Given the description of an element on the screen output the (x, y) to click on. 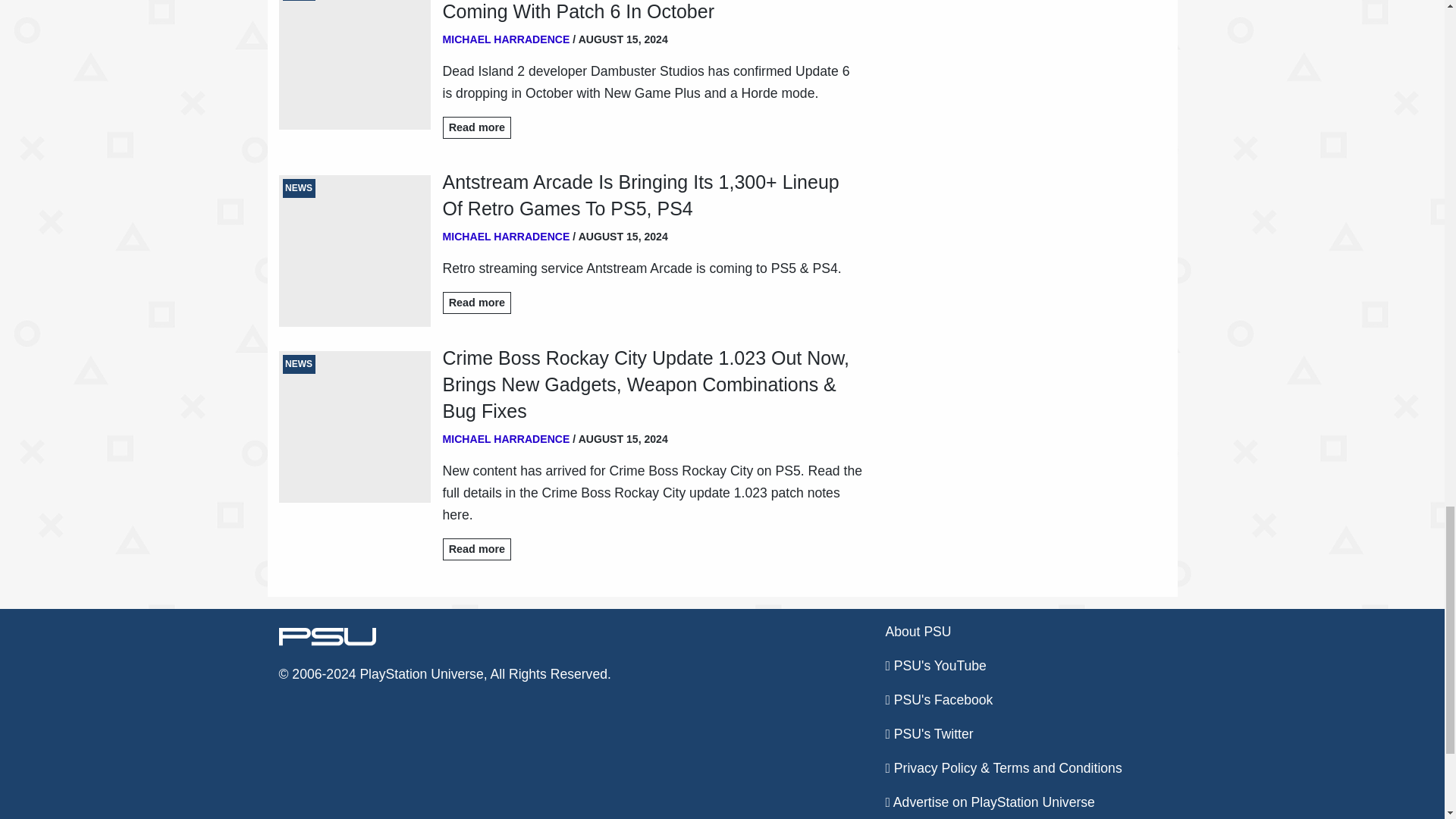
MICHAEL HARRADENCE (506, 236)
NEWS (354, 250)
Read more (477, 127)
NEWS (354, 64)
MICHAEL HARRADENCE (506, 39)
